Given the description of an element on the screen output the (x, y) to click on. 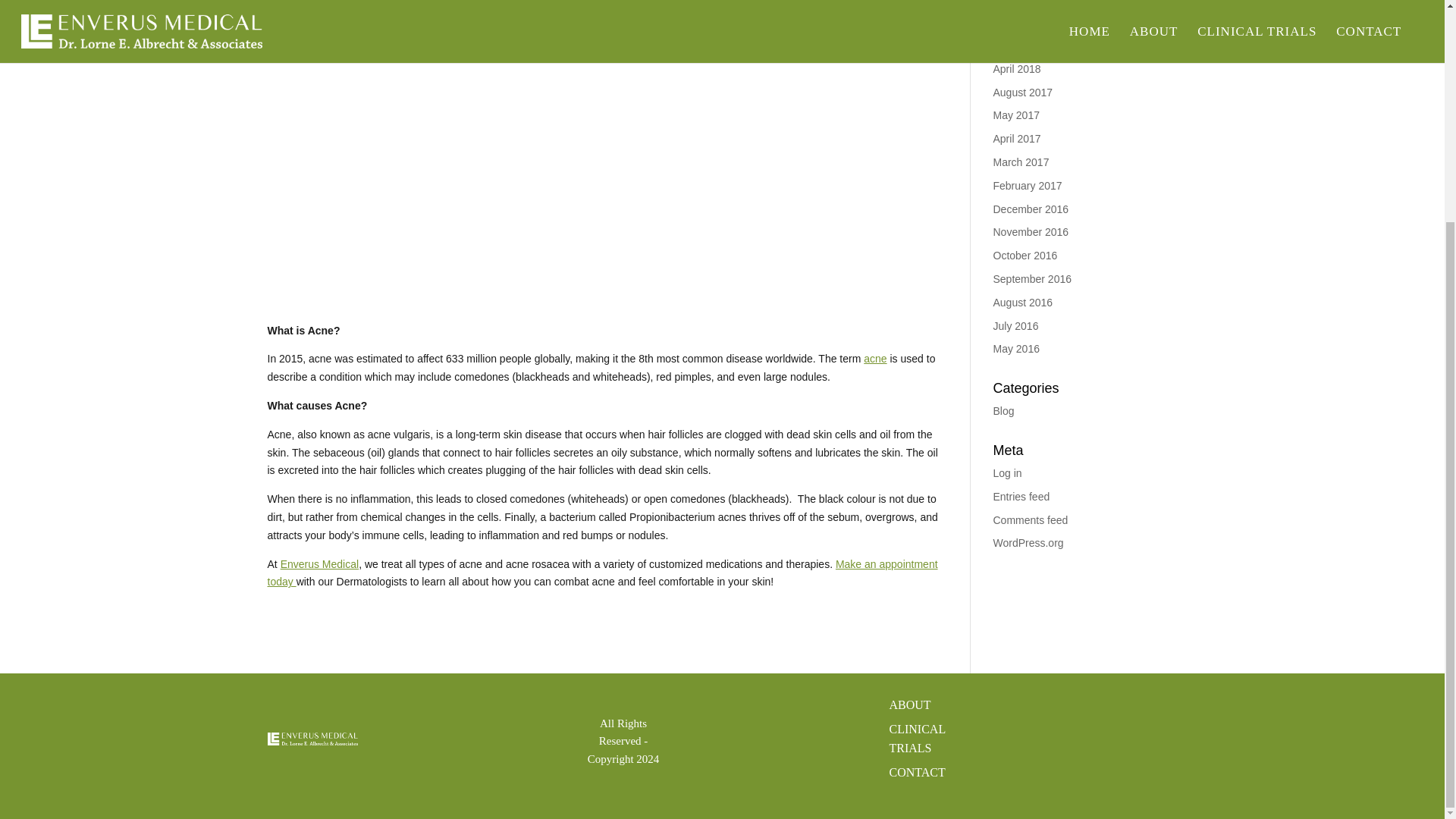
Comments feed (1030, 520)
November 2016 (1030, 232)
Log in (1007, 472)
May 2017 (1015, 114)
ABOUT (909, 704)
August 2017 (1022, 92)
March 2017 (1020, 162)
Blog (1003, 410)
WordPress.org (1028, 542)
acne (874, 358)
July 2016 (1015, 326)
Enverus Medical (320, 563)
December 2016 (1030, 209)
How Stress Affects Your Skin (1060, 6)
September 2016 (1031, 278)
